Given the description of an element on the screen output the (x, y) to click on. 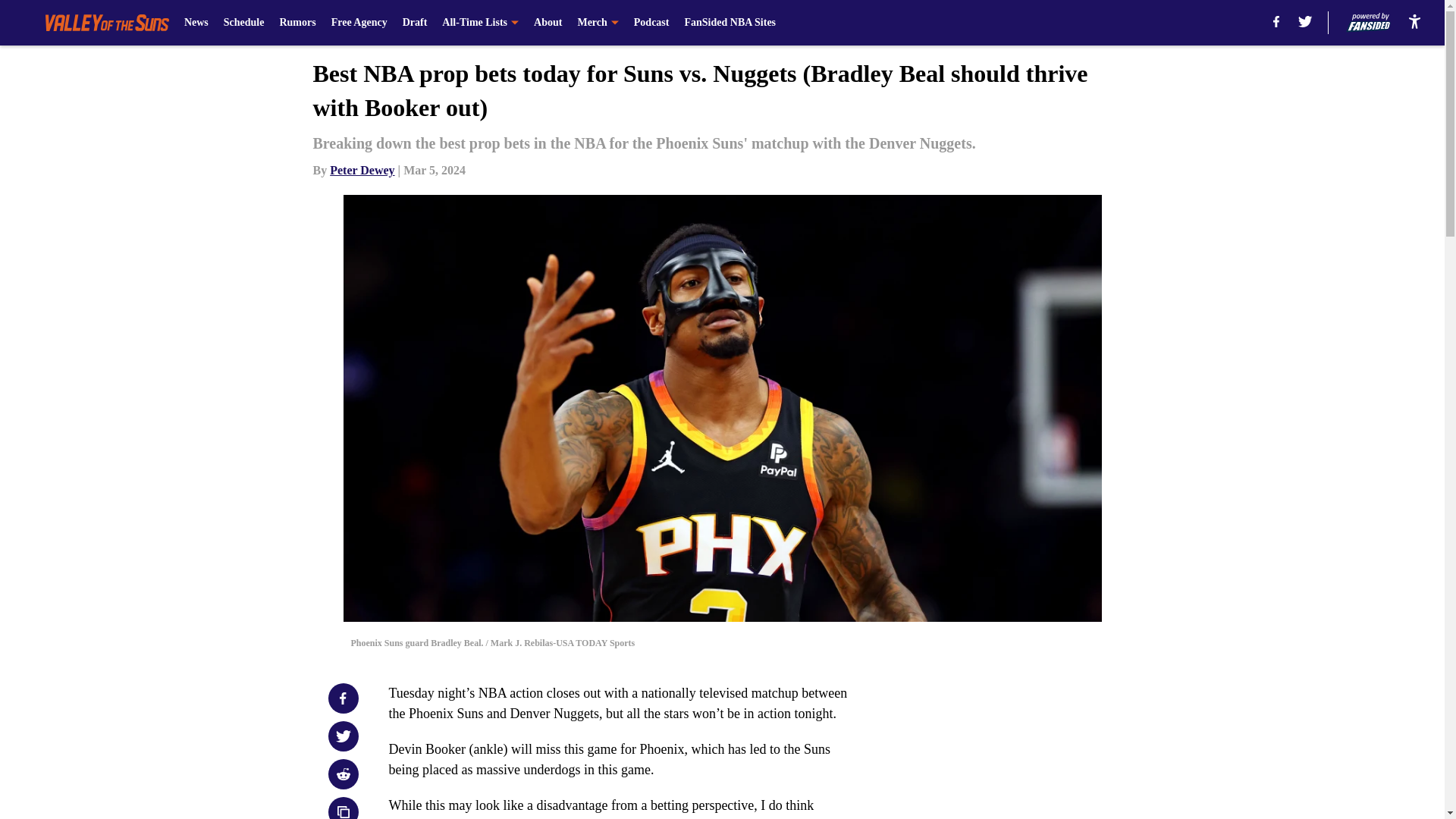
Rumors (297, 22)
All-Time Lists (480, 22)
Free Agency (359, 22)
About (548, 22)
Merch (596, 22)
News (196, 22)
Peter Dewey (362, 169)
FanSided NBA Sites (730, 22)
Schedule (244, 22)
